Given the description of an element on the screen output the (x, y) to click on. 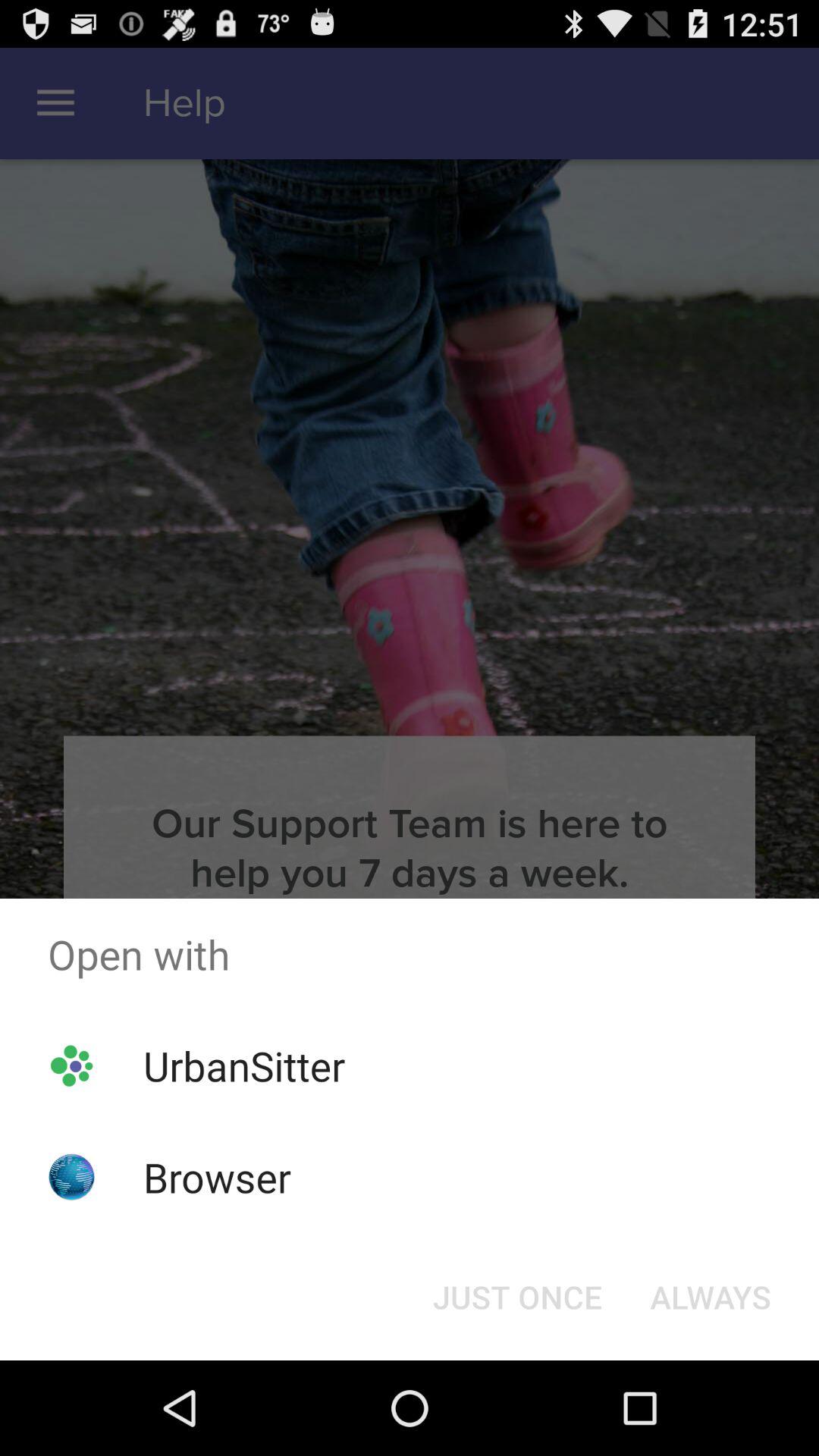
launch app above the browser (244, 1065)
